Given the description of an element on the screen output the (x, y) to click on. 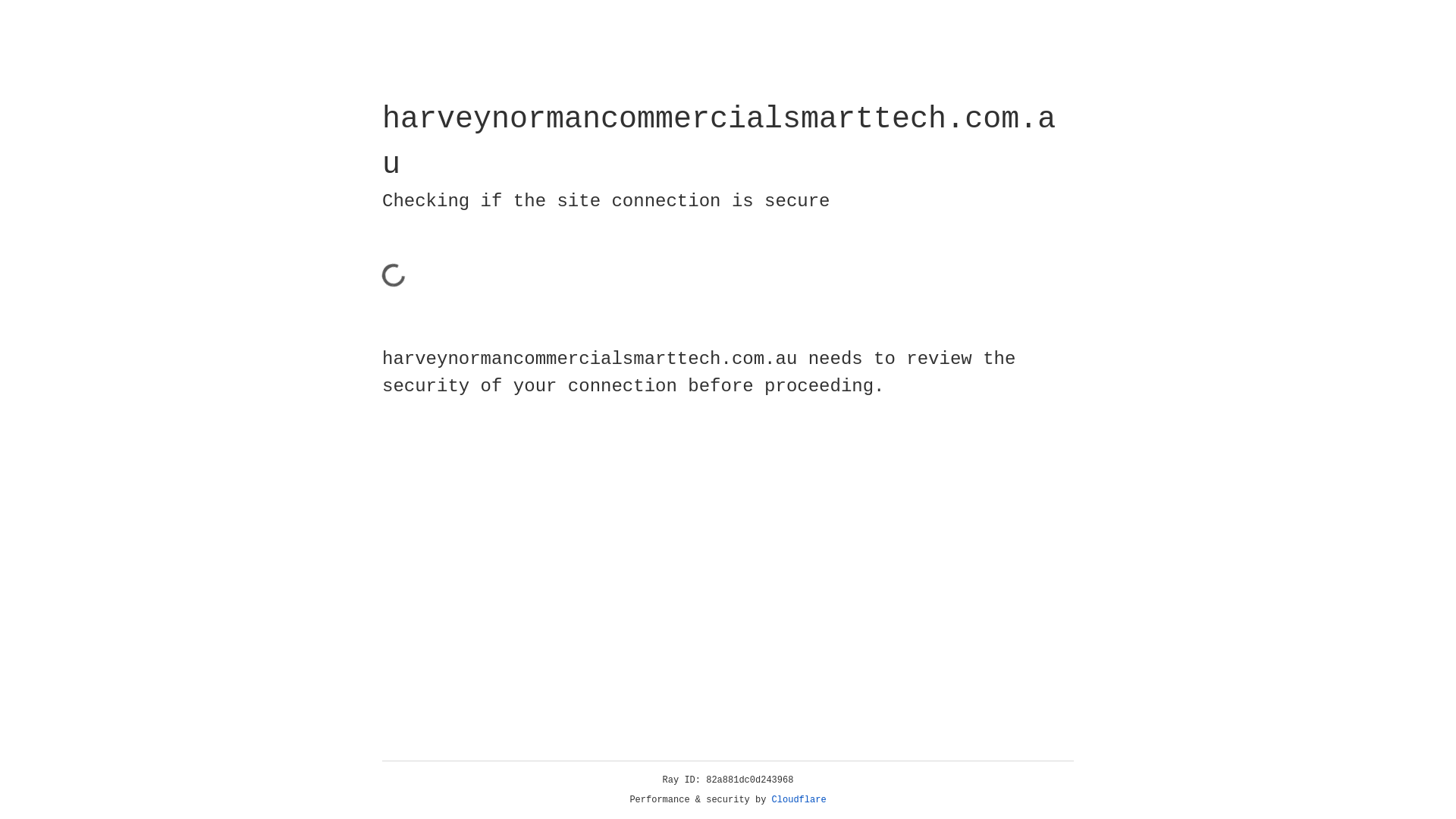
Cloudflare Element type: text (798, 799)
